Given the description of an element on the screen output the (x, y) to click on. 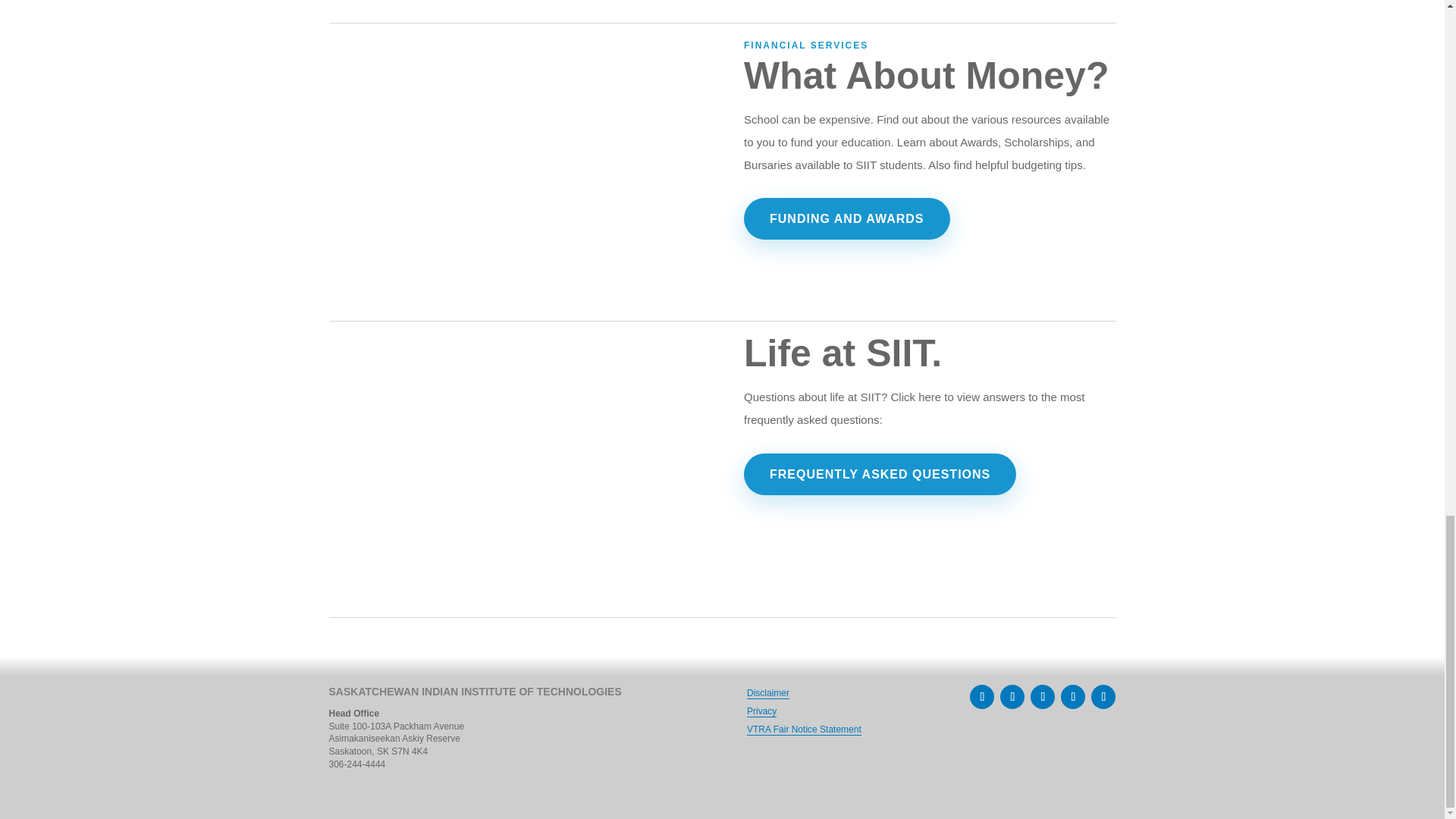
Follow on Facebook (981, 696)
Follow on LinkedIn (1072, 696)
Follow on Youtube (1102, 696)
Follow on Instagram (1012, 696)
Follow on Twitter (1042, 696)
